Given the description of an element on the screen output the (x, y) to click on. 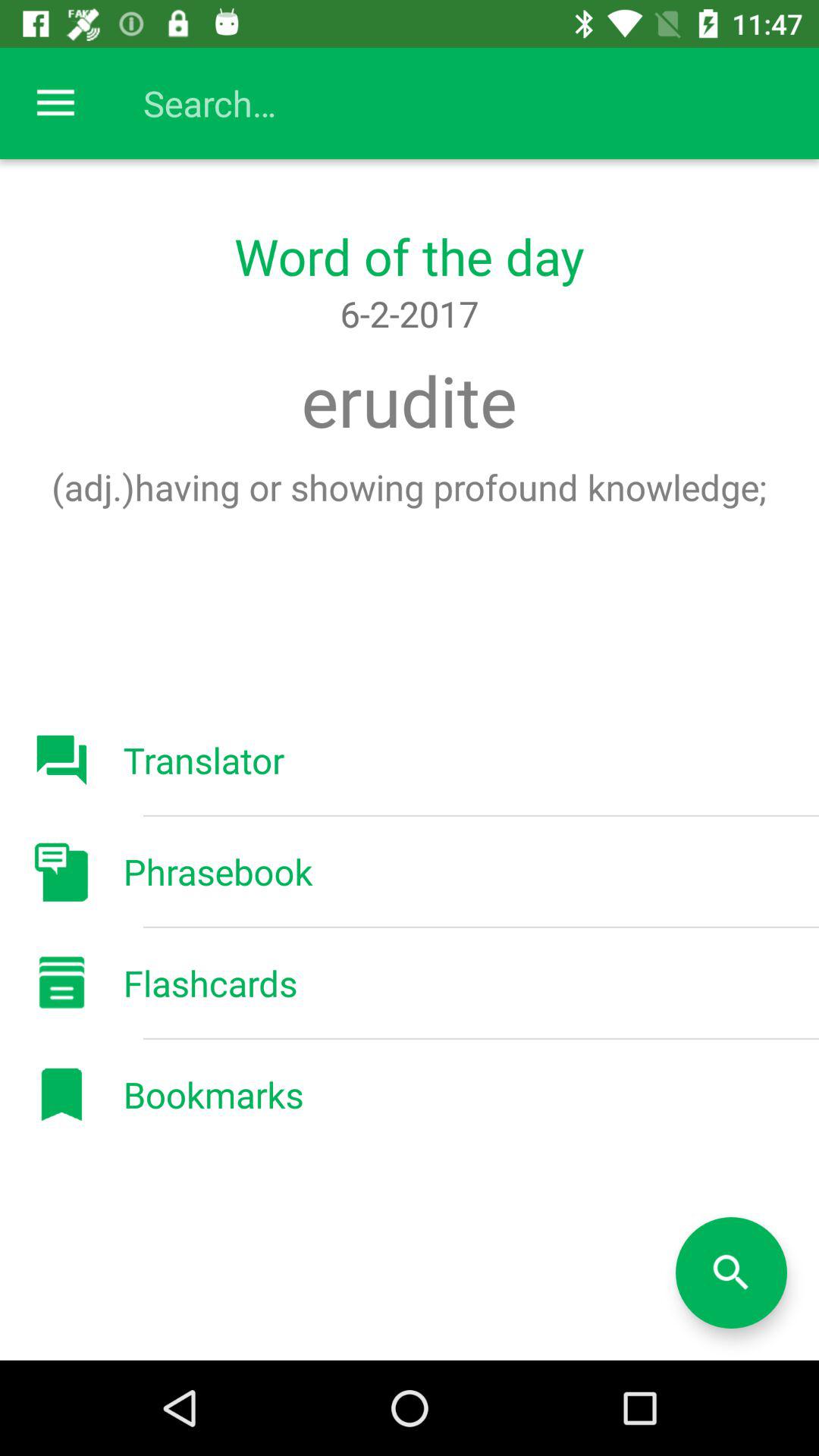
flip to the phrasebook (217, 871)
